Given the description of an element on the screen output the (x, y) to click on. 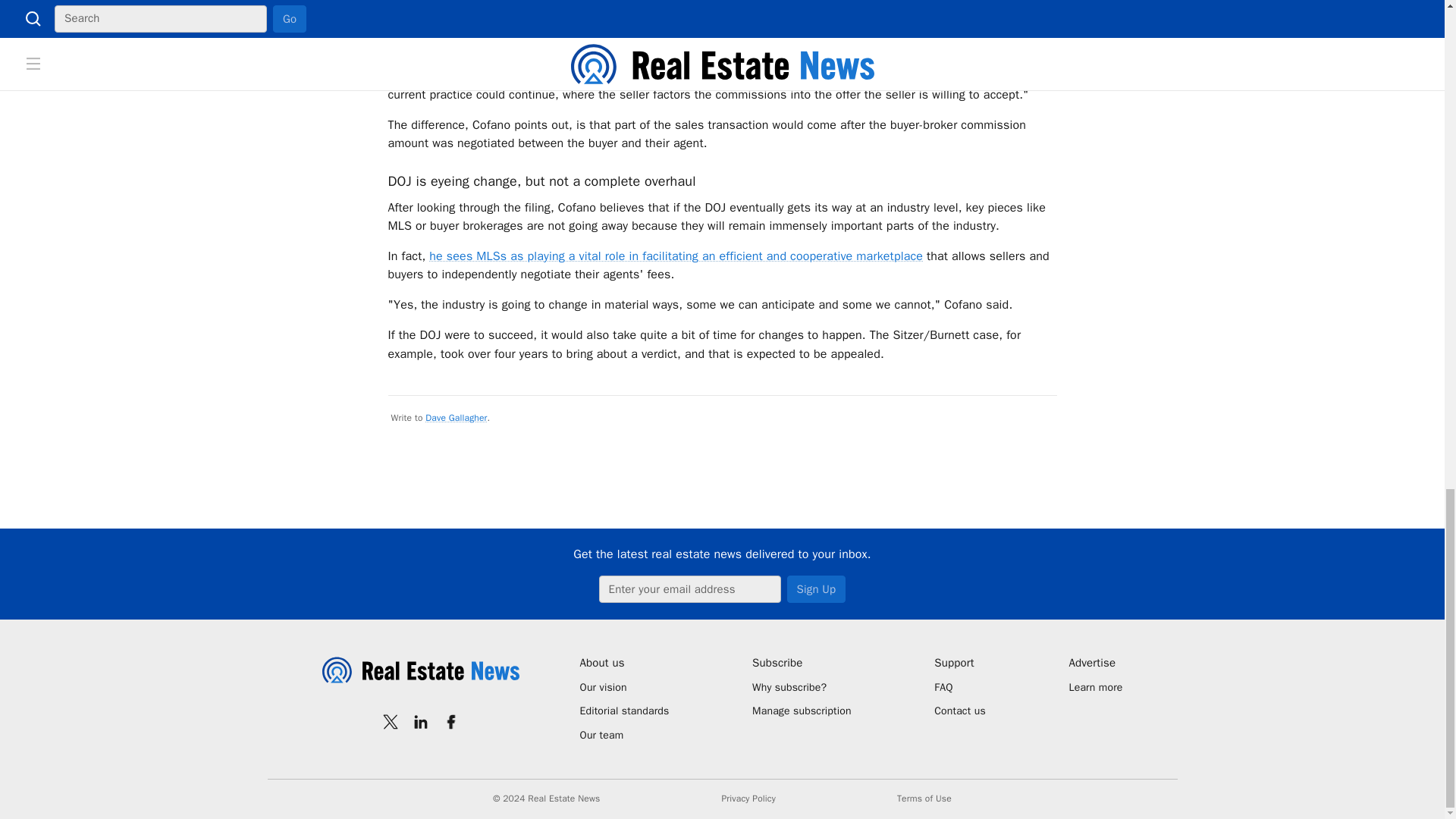
Why subscribe? (801, 687)
Contact us (959, 711)
Dave Gallagher (455, 418)
Editorial standards (623, 711)
Manage subscription (801, 711)
Our team (623, 735)
Learn more (1095, 687)
Terms of Use (924, 798)
Sign Up (816, 588)
Our vision (623, 687)
Privacy Policy (748, 798)
FAQ (959, 687)
